Given the description of an element on the screen output the (x, y) to click on. 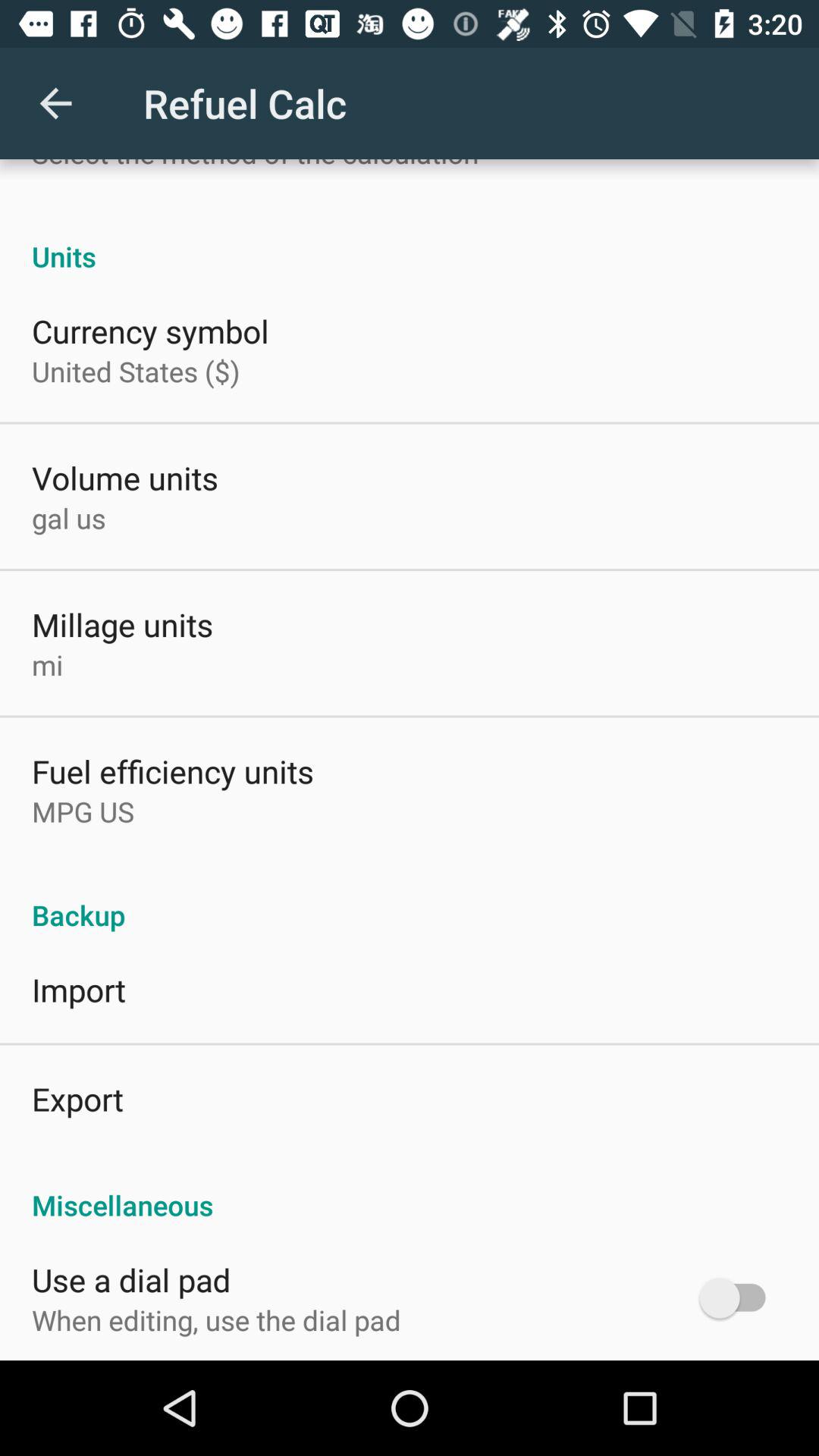
flip to mi (47, 664)
